Given the description of an element on the screen output the (x, y) to click on. 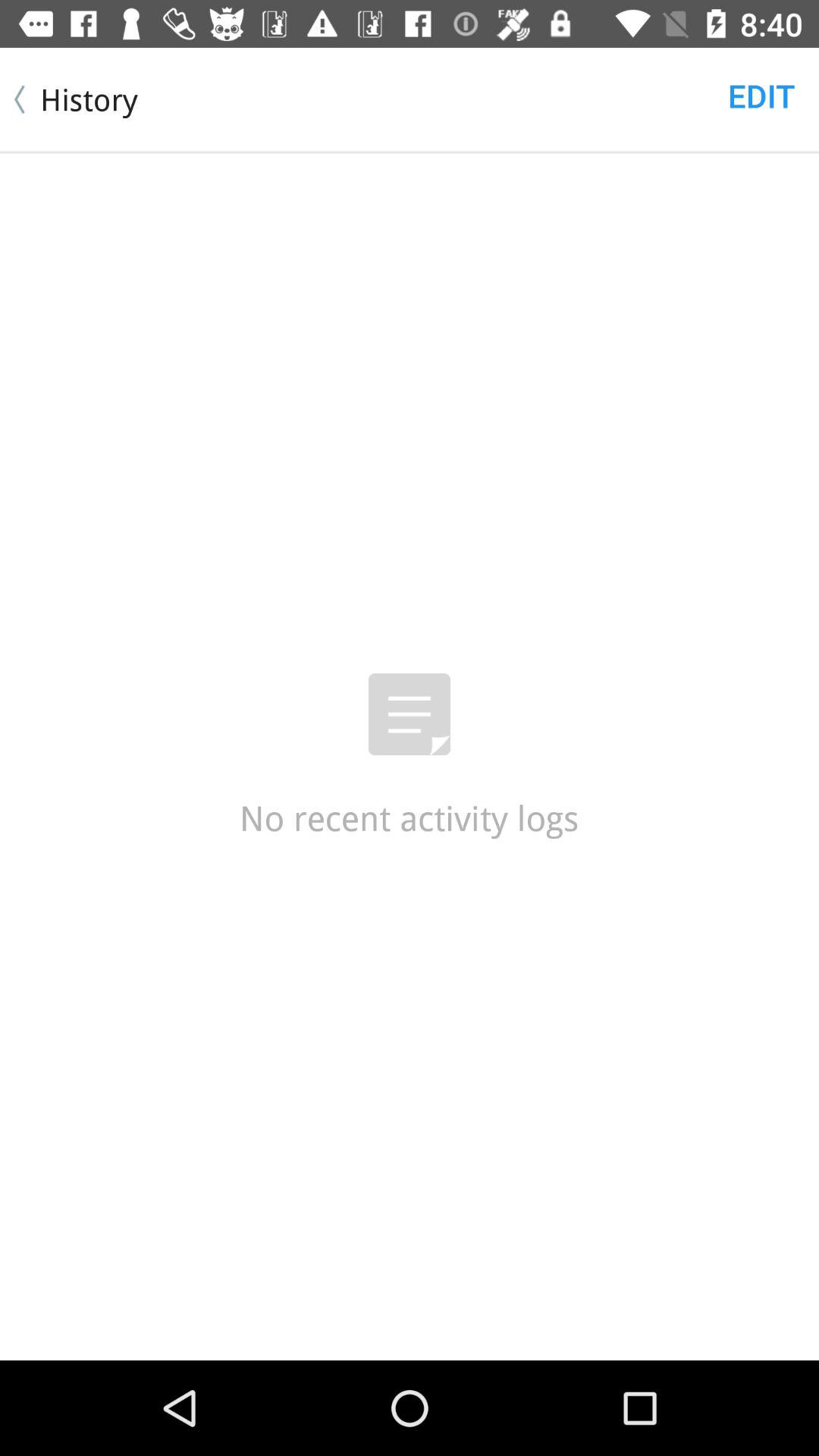
flip to edit item (761, 95)
